Given the description of an element on the screen output the (x, y) to click on. 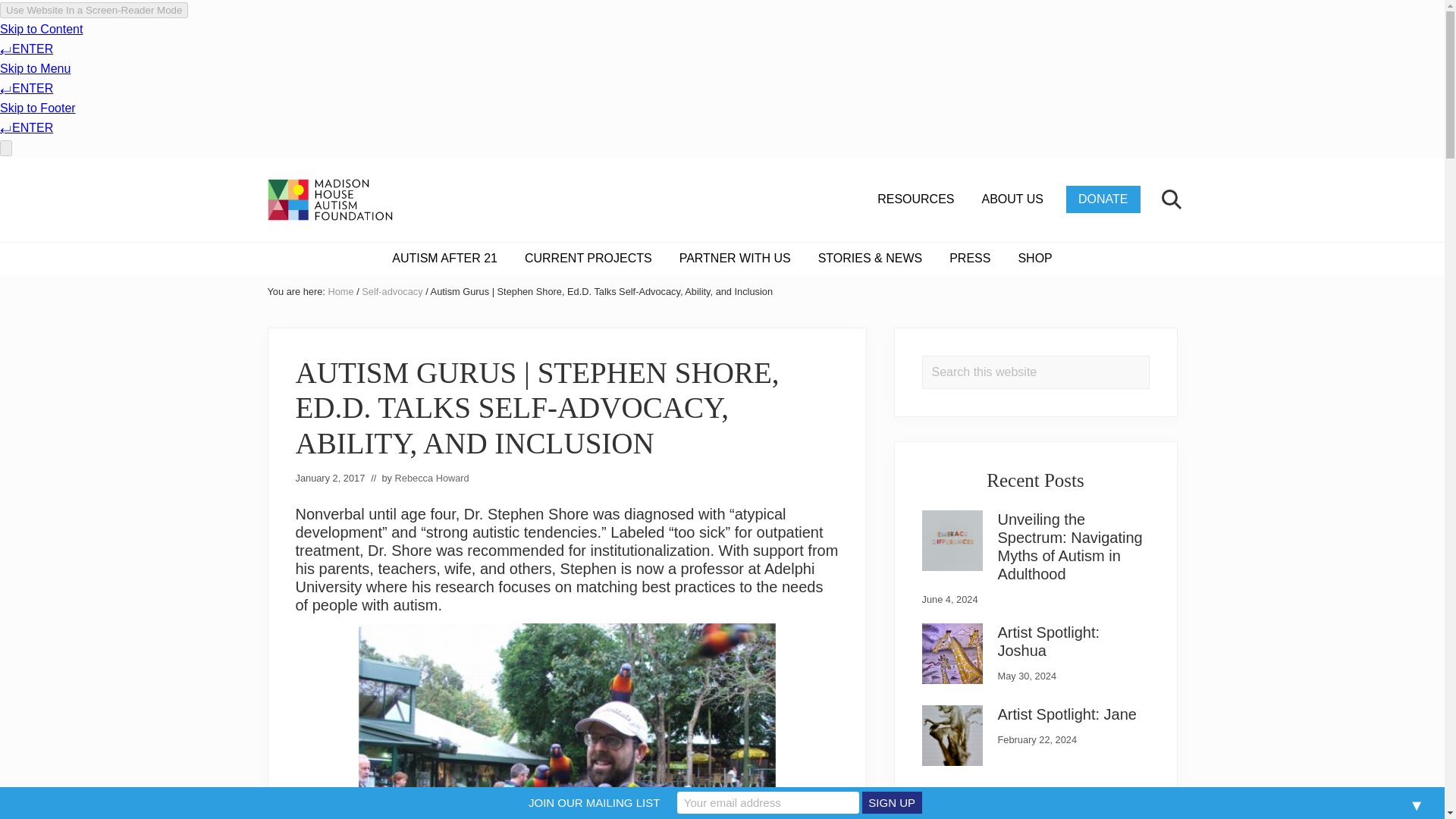
PARTNER WITH US (735, 258)
CURRENT PROJECTS (588, 258)
ABOUT US (1013, 198)
SHOP (1034, 258)
Self-advocacy (391, 291)
Home (340, 291)
Rebecca Howard (431, 478)
AUTISM AFTER 21 (444, 258)
SIGN UP (891, 802)
PRESS (970, 258)
RESOURCES (915, 198)
DONATE (1102, 198)
SEARCH (1169, 198)
